Given the description of an element on the screen output the (x, y) to click on. 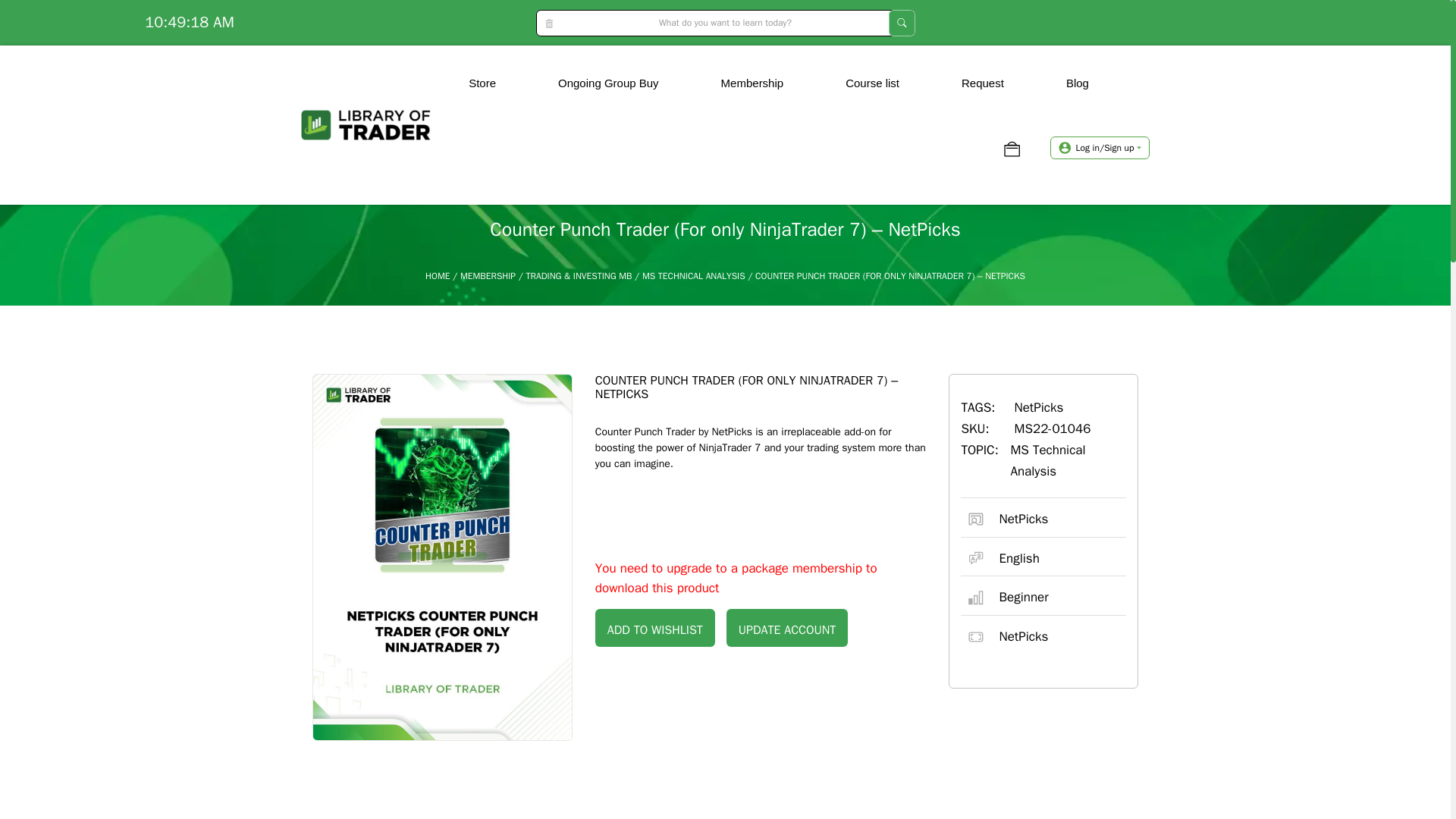
Store (481, 83)
MEMBERSHIP PRODUCT (809, 149)
GROUP BUY (470, 141)
PAKAGE (978, 141)
technical analysis (638, 139)
Course list (871, 83)
NFT (465, 139)
technical analysis (638, 139)
Request (982, 83)
Cryptocurrency  (465, 141)
Ongoing Group Buy (608, 83)
COMING SOON (640, 141)
NEW RELEASE (809, 141)
NFT (465, 139)
Cryptocurrency (465, 141)
